Given the description of an element on the screen output the (x, y) to click on. 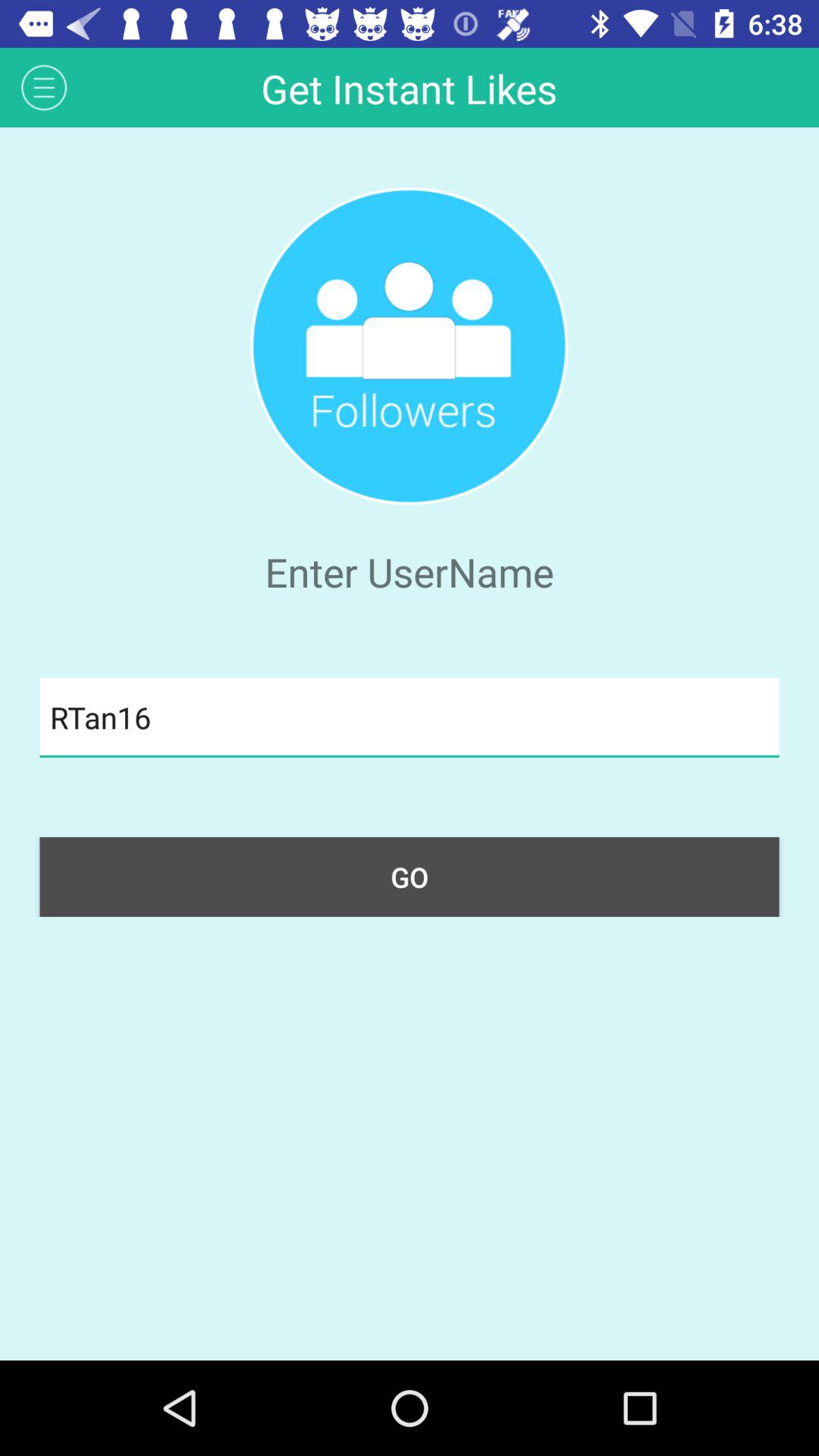
turn on the icon at the top left corner (44, 87)
